Given the description of an element on the screen output the (x, y) to click on. 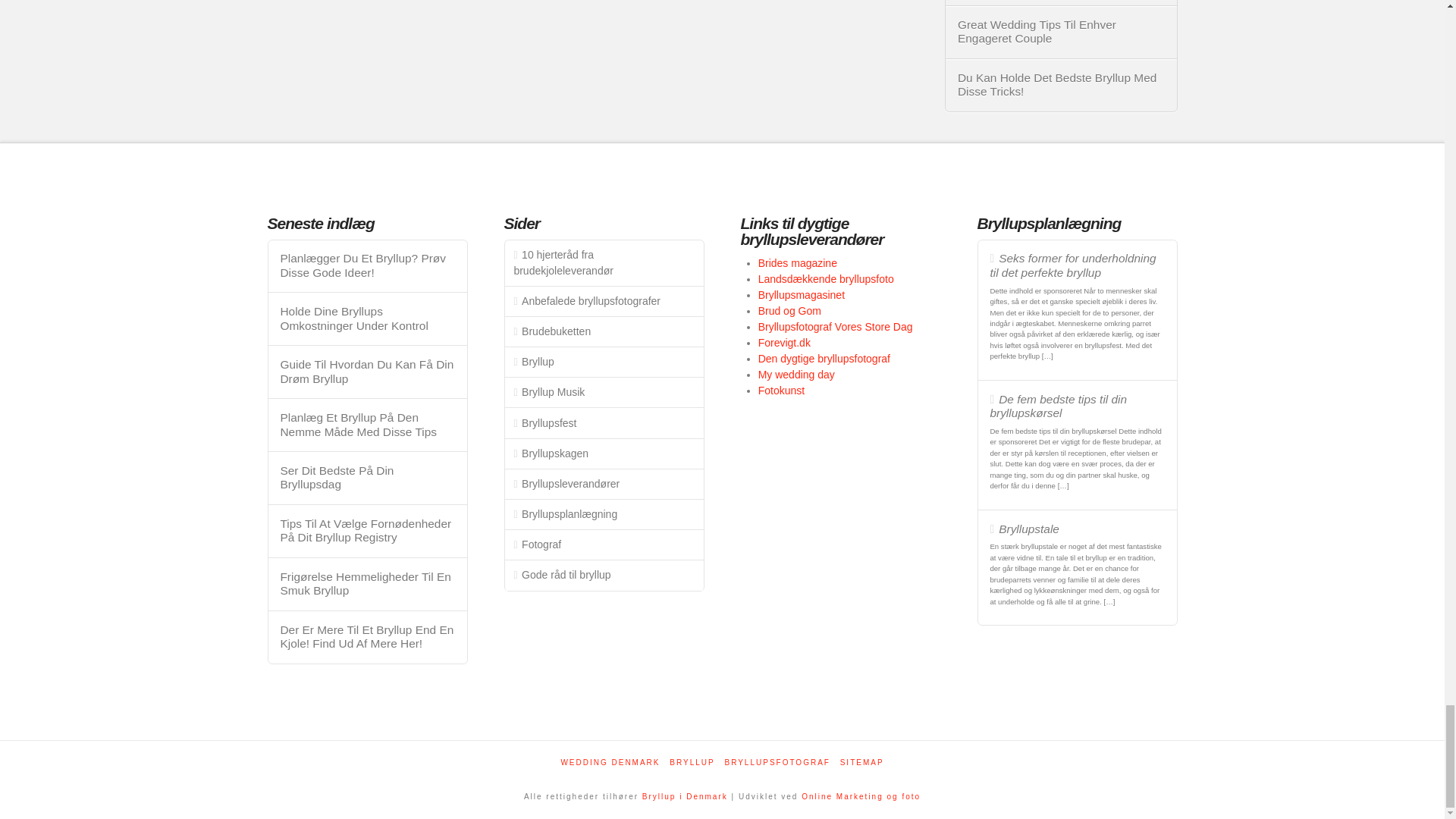
Online Marketing og foto (861, 796)
Bryllup (685, 796)
